Given the description of an element on the screen output the (x, y) to click on. 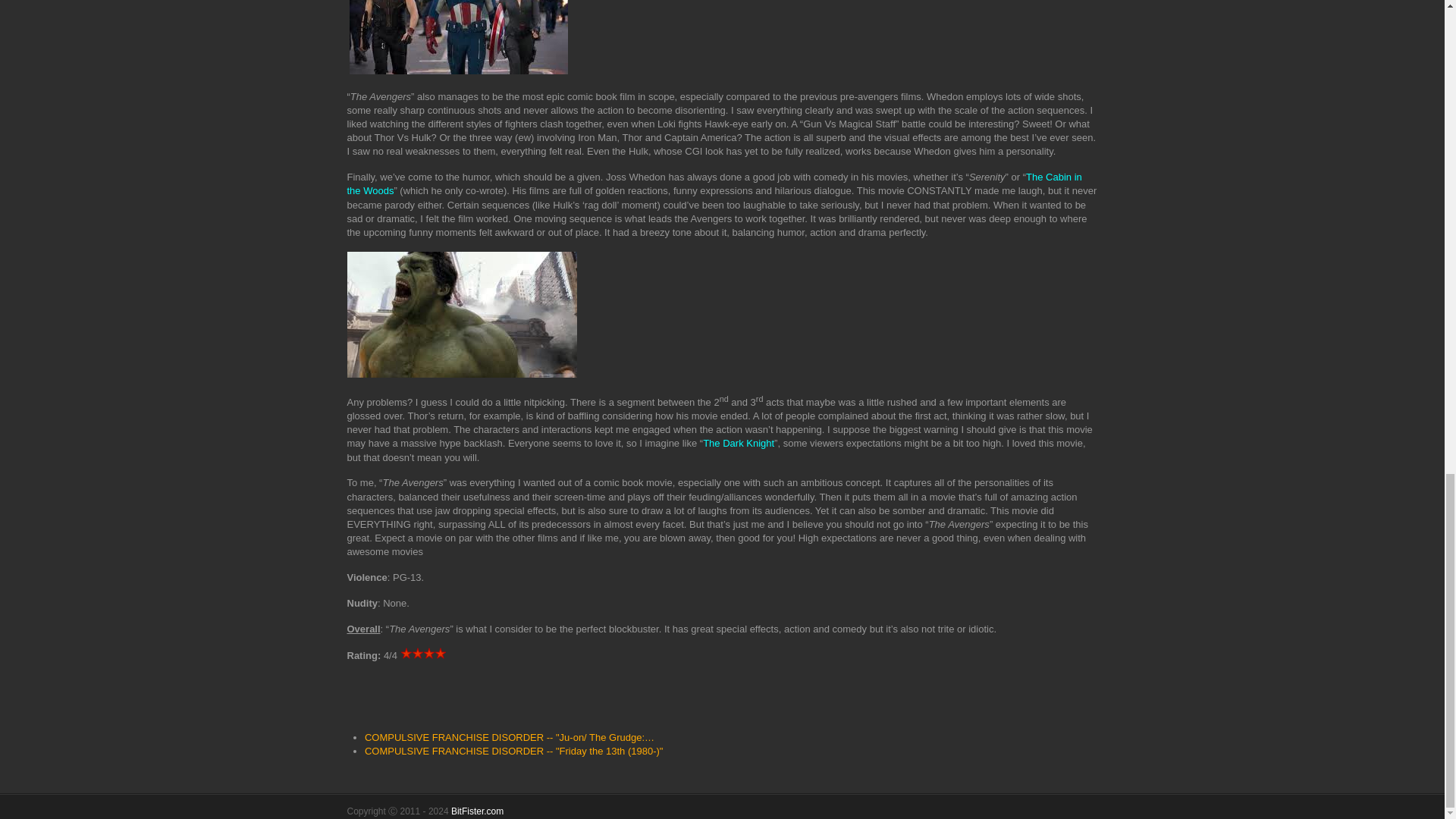
Avengers2 (461, 314)
Avengers (458, 37)
BitFister.com (477, 810)
The Dark Knight (738, 442)
The Cabin in the Woods (714, 183)
